Given the description of an element on the screen output the (x, y) to click on. 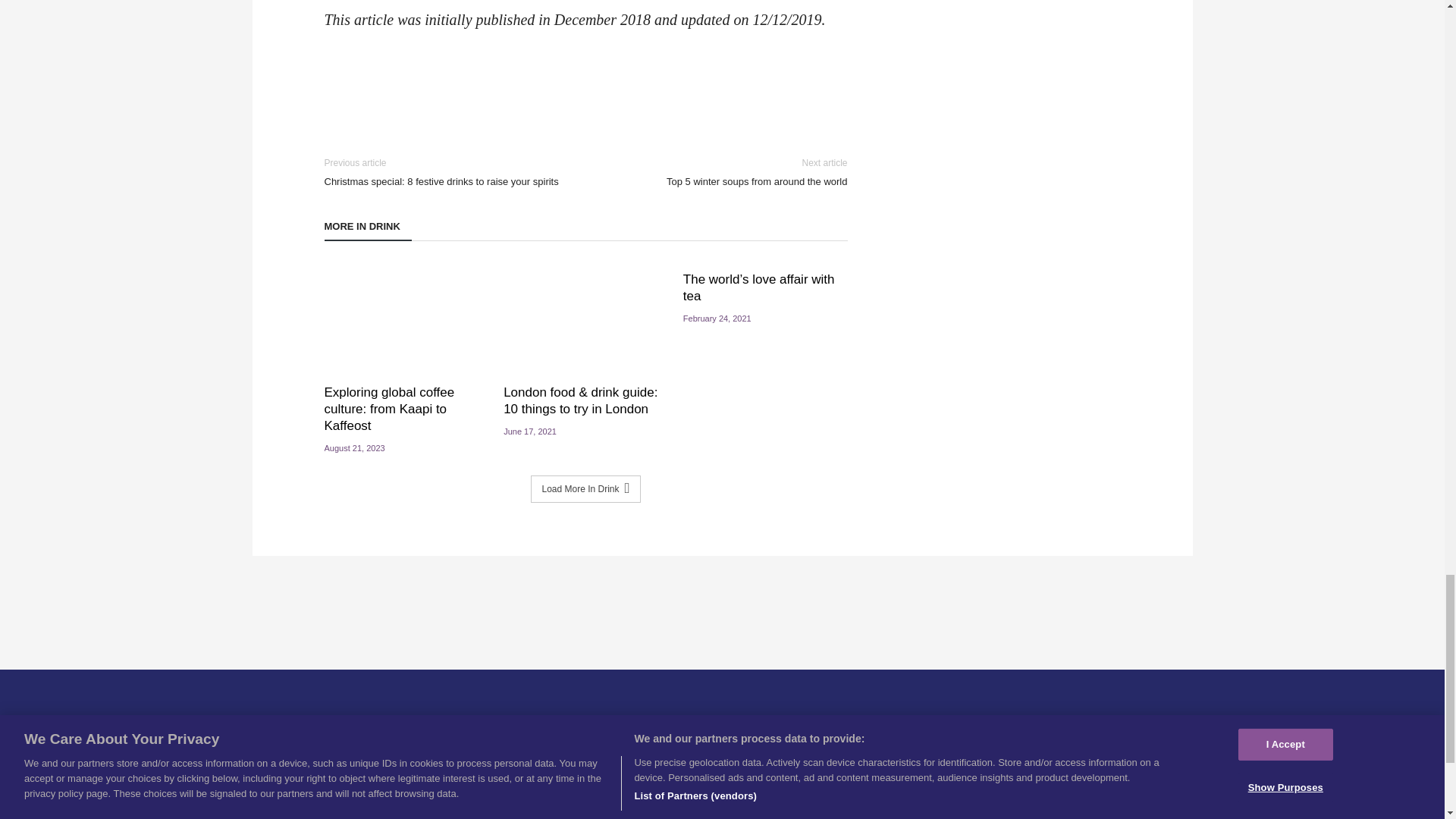
MORE IN DRINK (727, 172)
Exploring global coffee culture: from Kaapi to Kaffeost (368, 230)
